Given the description of an element on the screen output the (x, y) to click on. 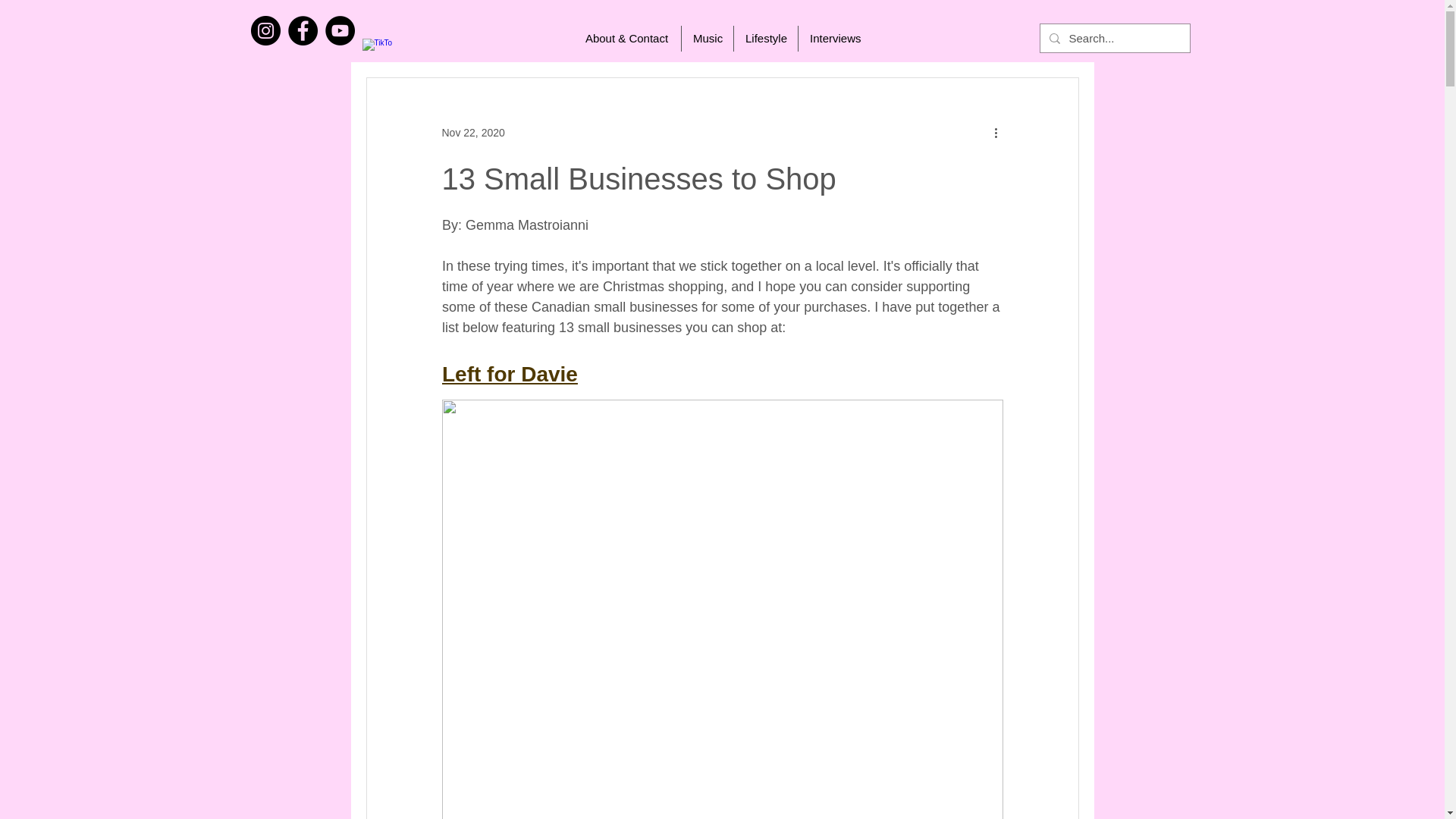
Interviews (833, 38)
Nov 22, 2020 (472, 132)
Music (707, 38)
Lifestyle (765, 38)
